Given the description of an element on the screen output the (x, y) to click on. 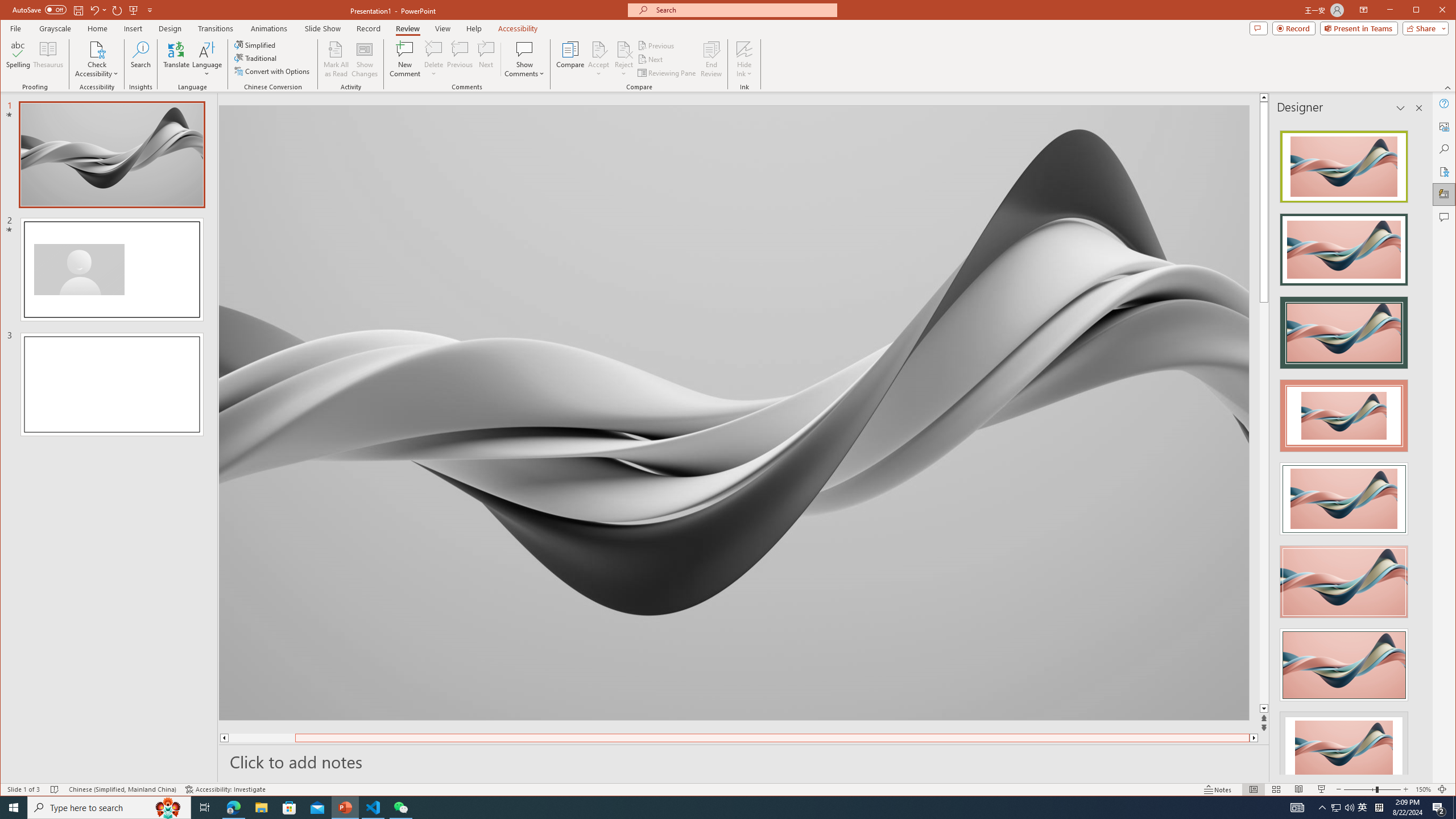
Thesaurus... (48, 59)
